Given the description of an element on the screen output the (x, y) to click on. 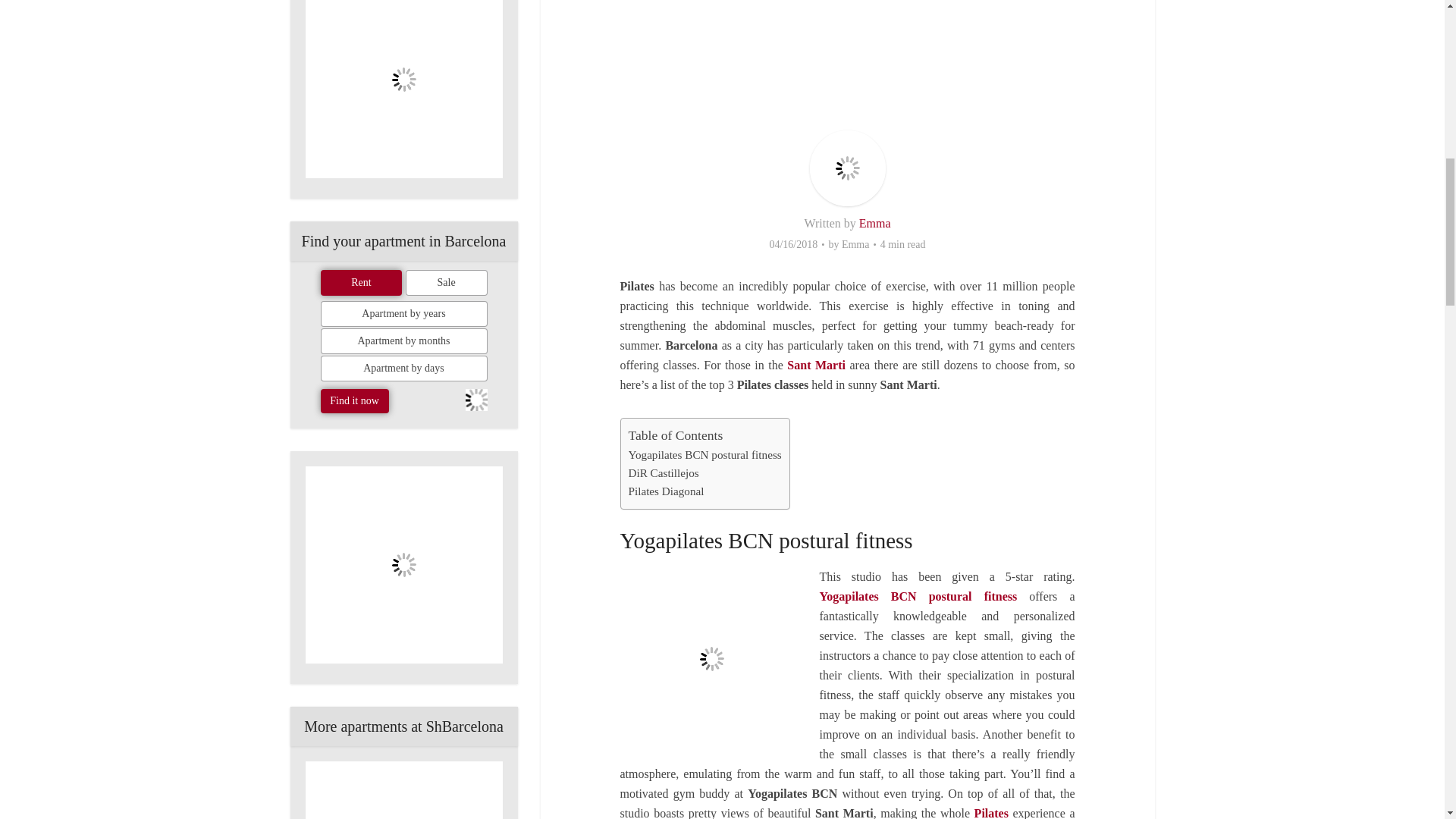
Barcelona City Pass (403, 89)
Rent (360, 282)
Prices and Cost of Living in Barcelona (403, 564)
Apartment by months (403, 340)
Rent a flat in Barcelona (403, 790)
Sale (446, 282)
Apartment by years (403, 313)
